Given the description of an element on the screen output the (x, y) to click on. 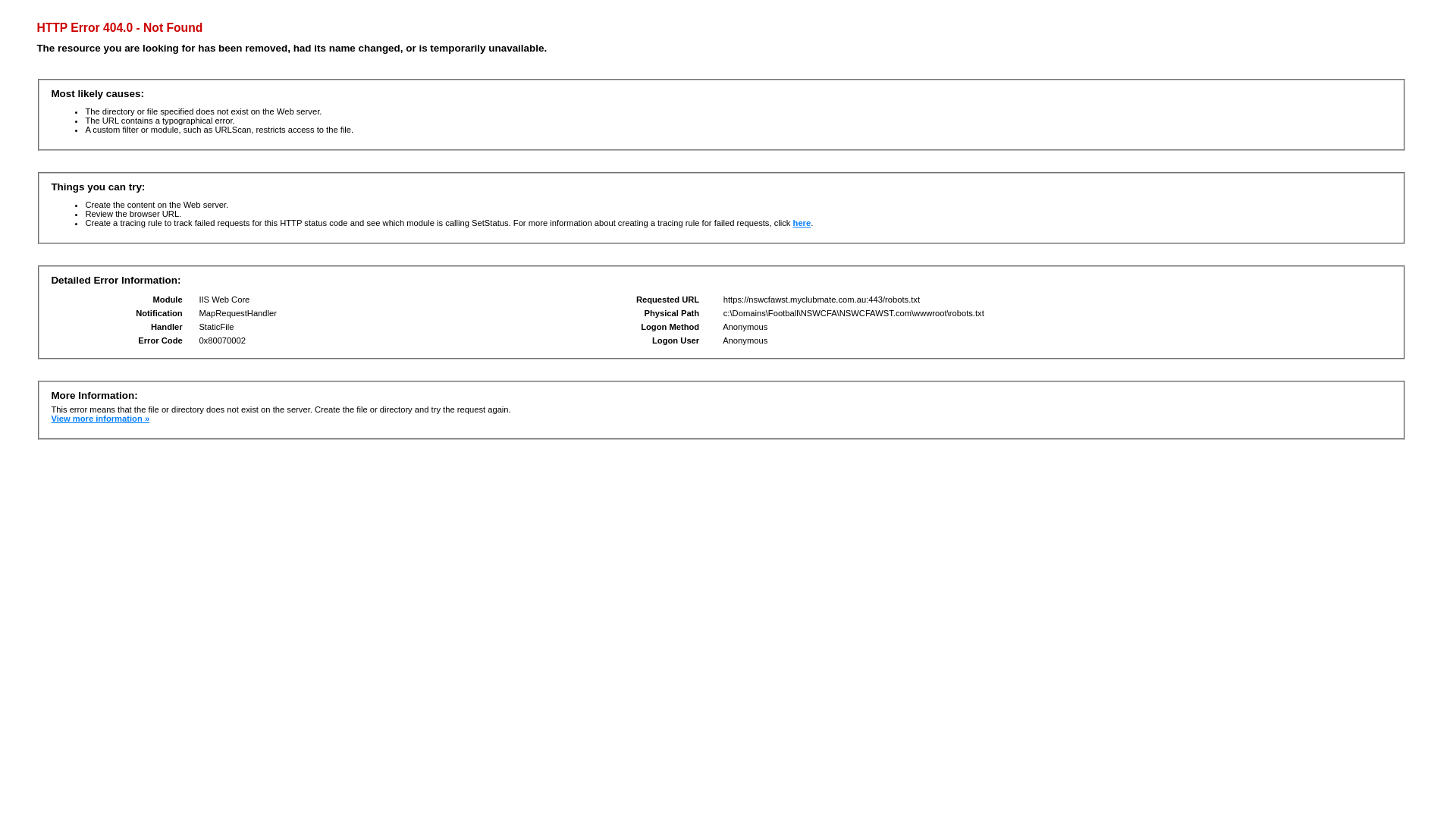
here Element type: text (802, 222)
